Given the description of an element on the screen output the (x, y) to click on. 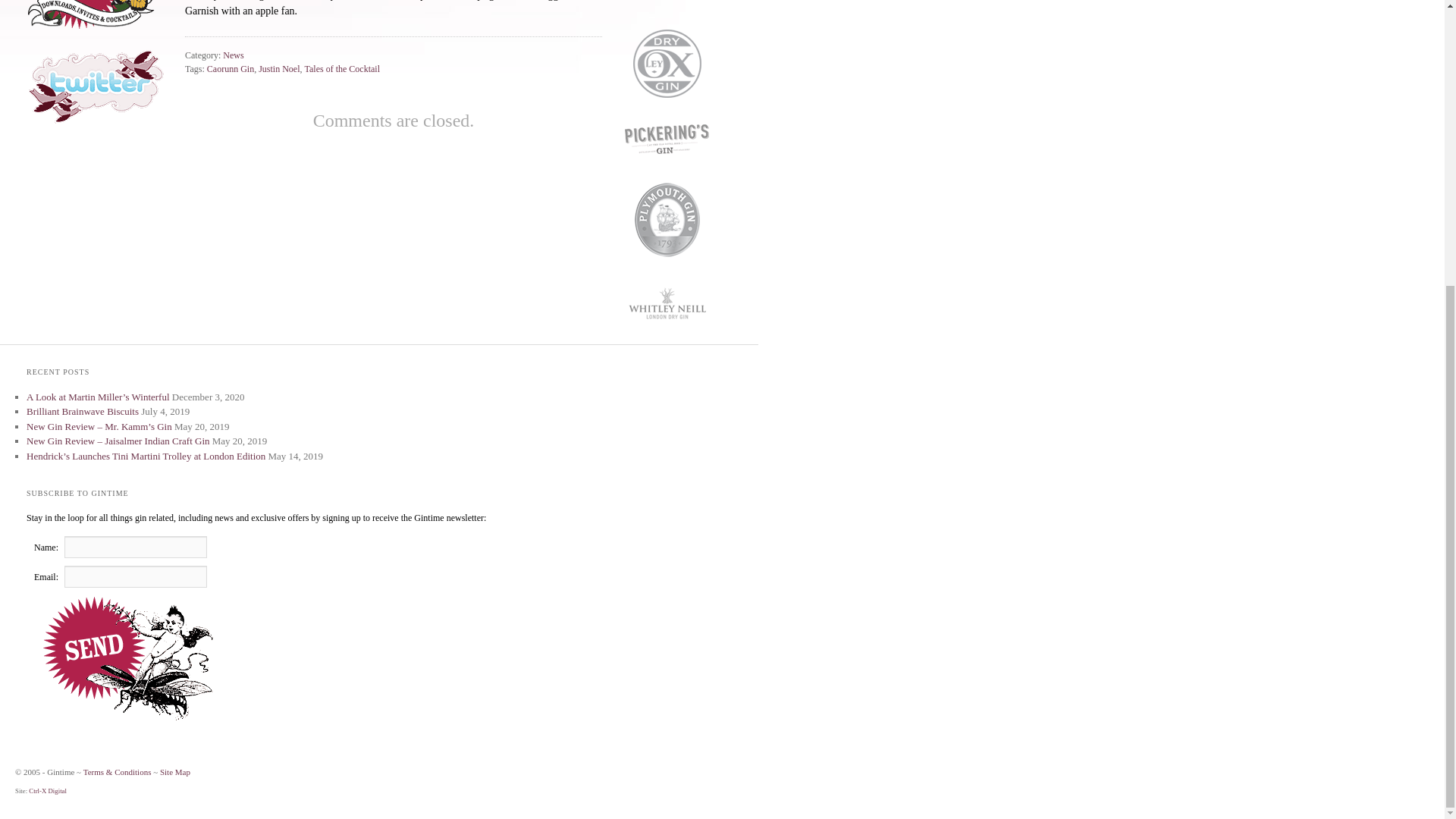
Follow us on Twitter (87, 88)
Oxley - Classic English Gin (667, 117)
Martin Miller's Gin (667, 18)
Pickering's Gin (667, 170)
Subscribe to Gintime (87, 18)
